Given the description of an element on the screen output the (x, y) to click on. 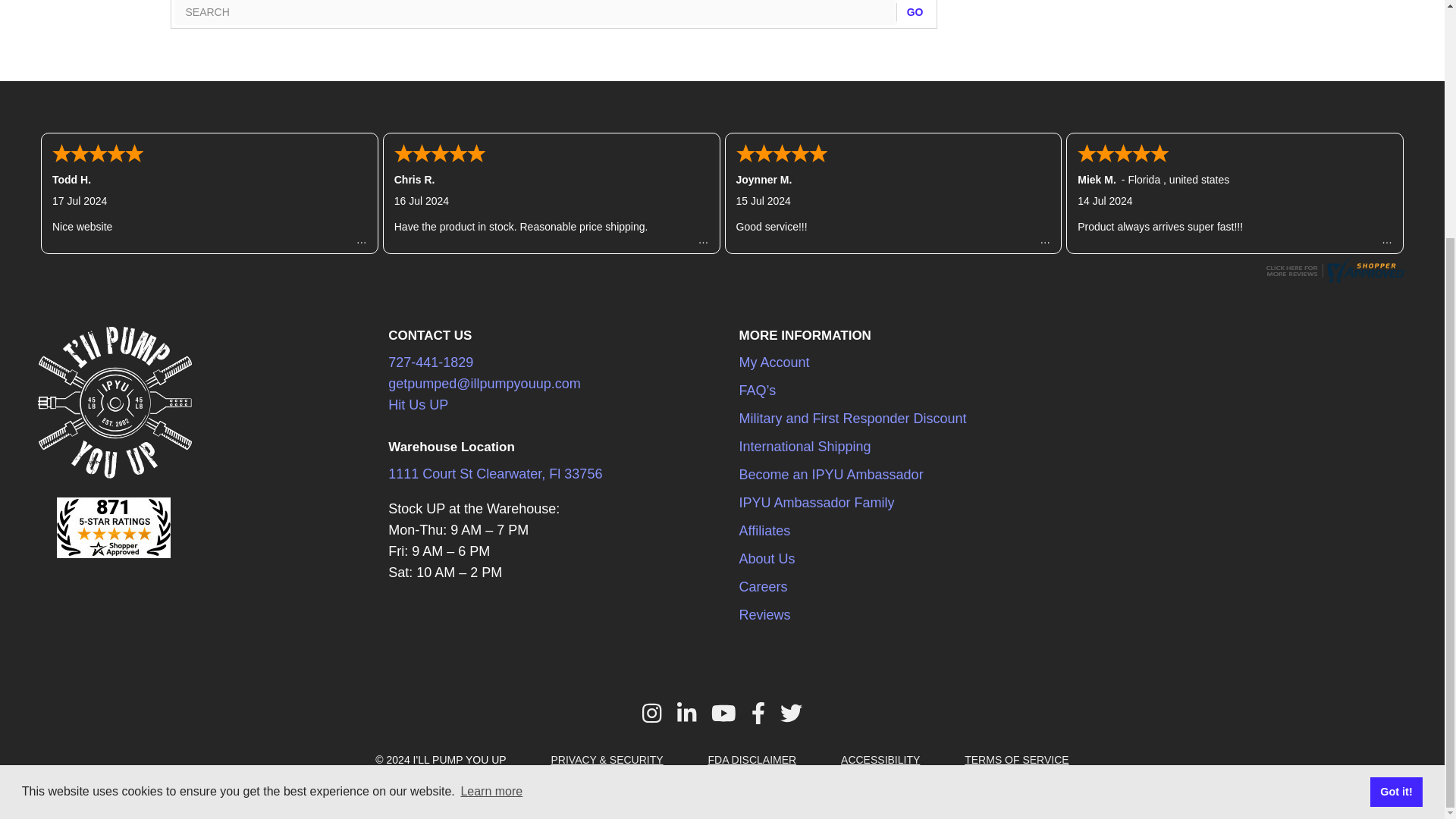
Learn more (491, 465)
Got it! (1396, 465)
Reviews (1334, 278)
GO (914, 12)
GO (914, 12)
